Given the description of an element on the screen output the (x, y) to click on. 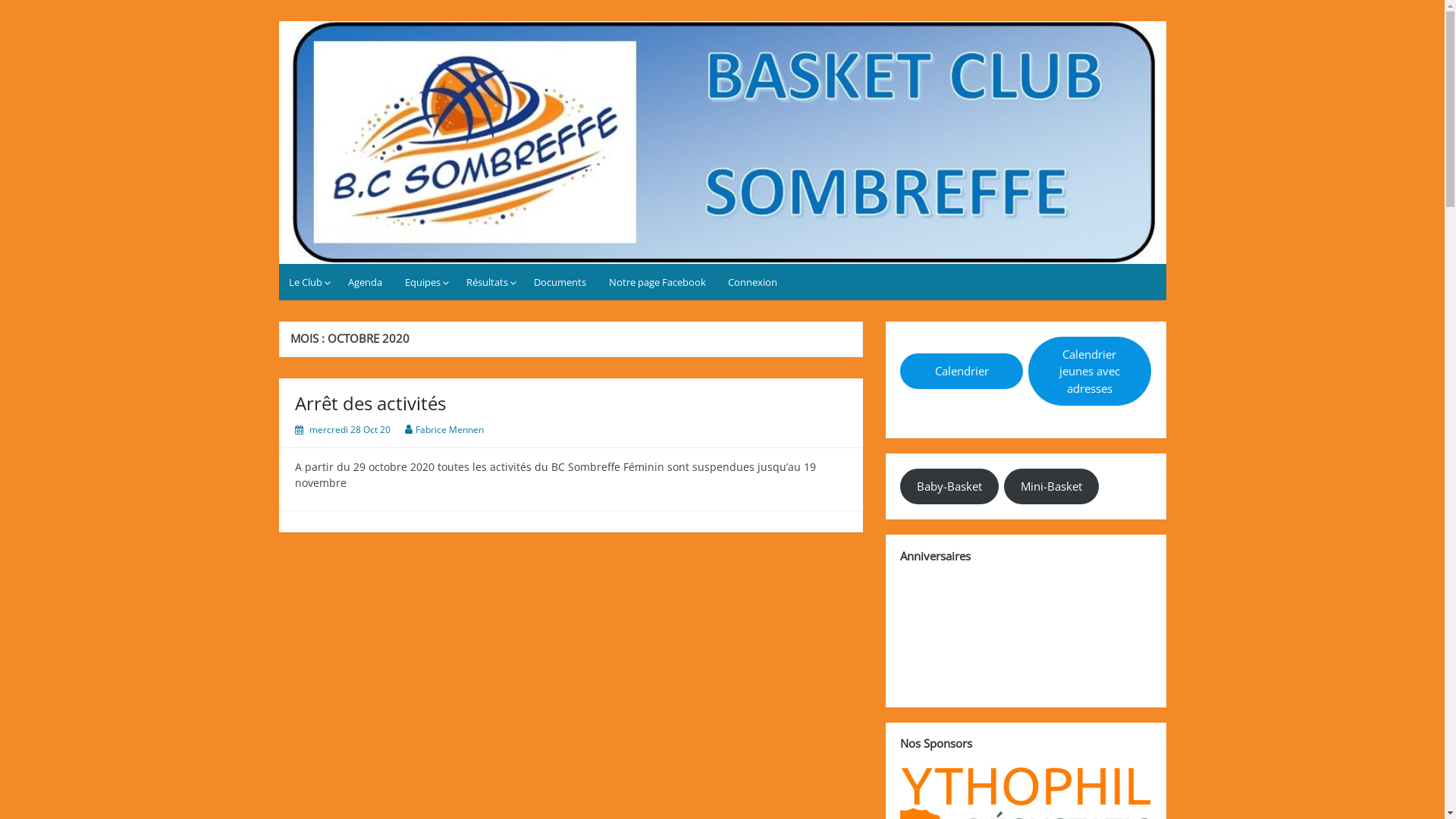
Agenda Element type: text (365, 281)
Calendrier jeunes avec adresses Element type: text (1089, 370)
Baby-Basket Element type: text (949, 485)
Documents Element type: text (560, 281)
Fabrice Mennen Element type: text (449, 429)
Connexion Element type: text (752, 281)
Mini-Basket Element type: text (1051, 485)
Equipes Element type: text (423, 281)
mercredi 28 Oct 20 Element type: text (349, 429)
Notre page Facebook Element type: text (657, 281)
Calendrier Element type: text (961, 370)
Basket Club Sombreffe Element type: text (395, 34)
Le Club Element type: text (307, 281)
